Given the description of an element on the screen output the (x, y) to click on. 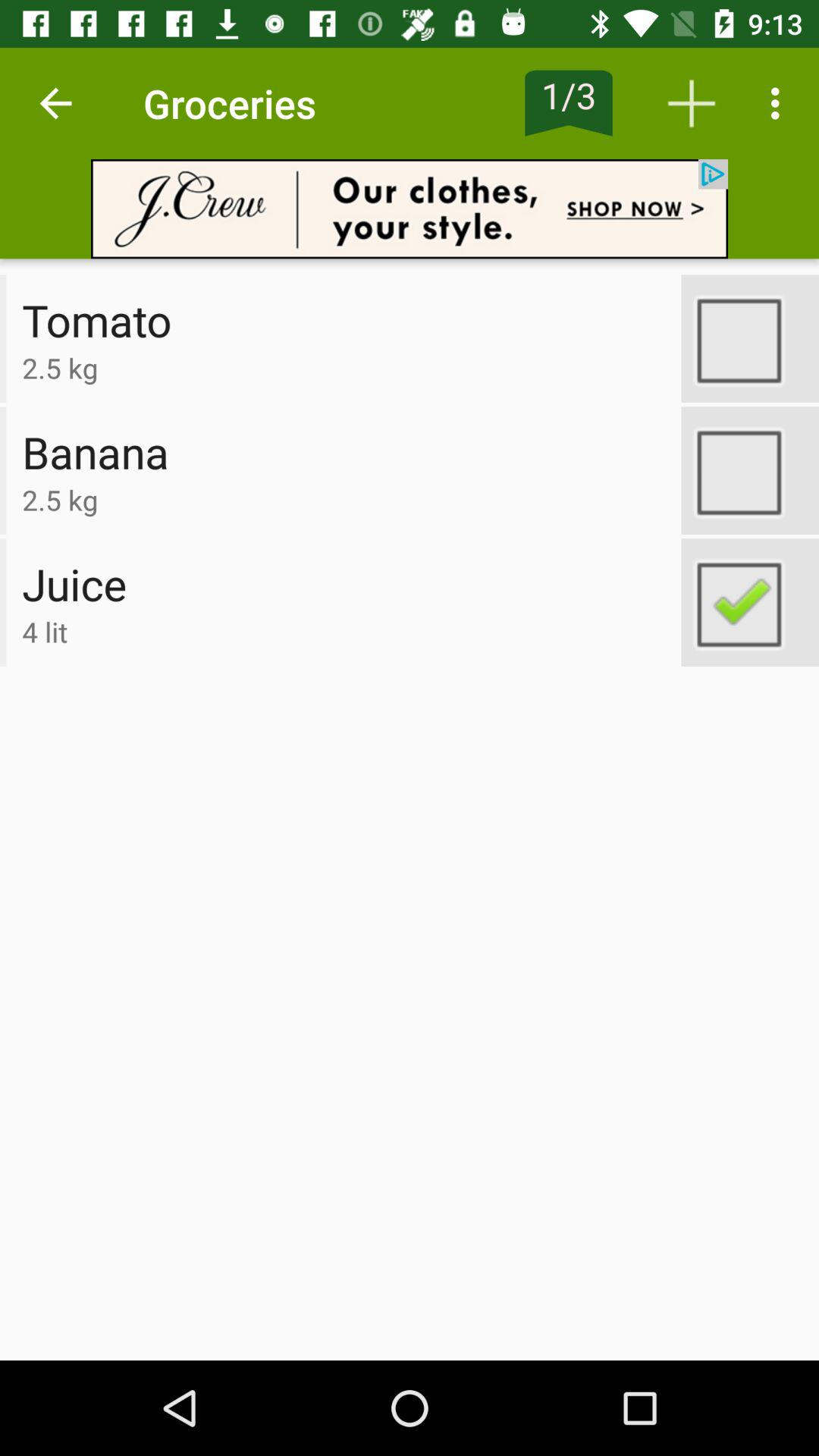
select item (750, 470)
